Given the description of an element on the screen output the (x, y) to click on. 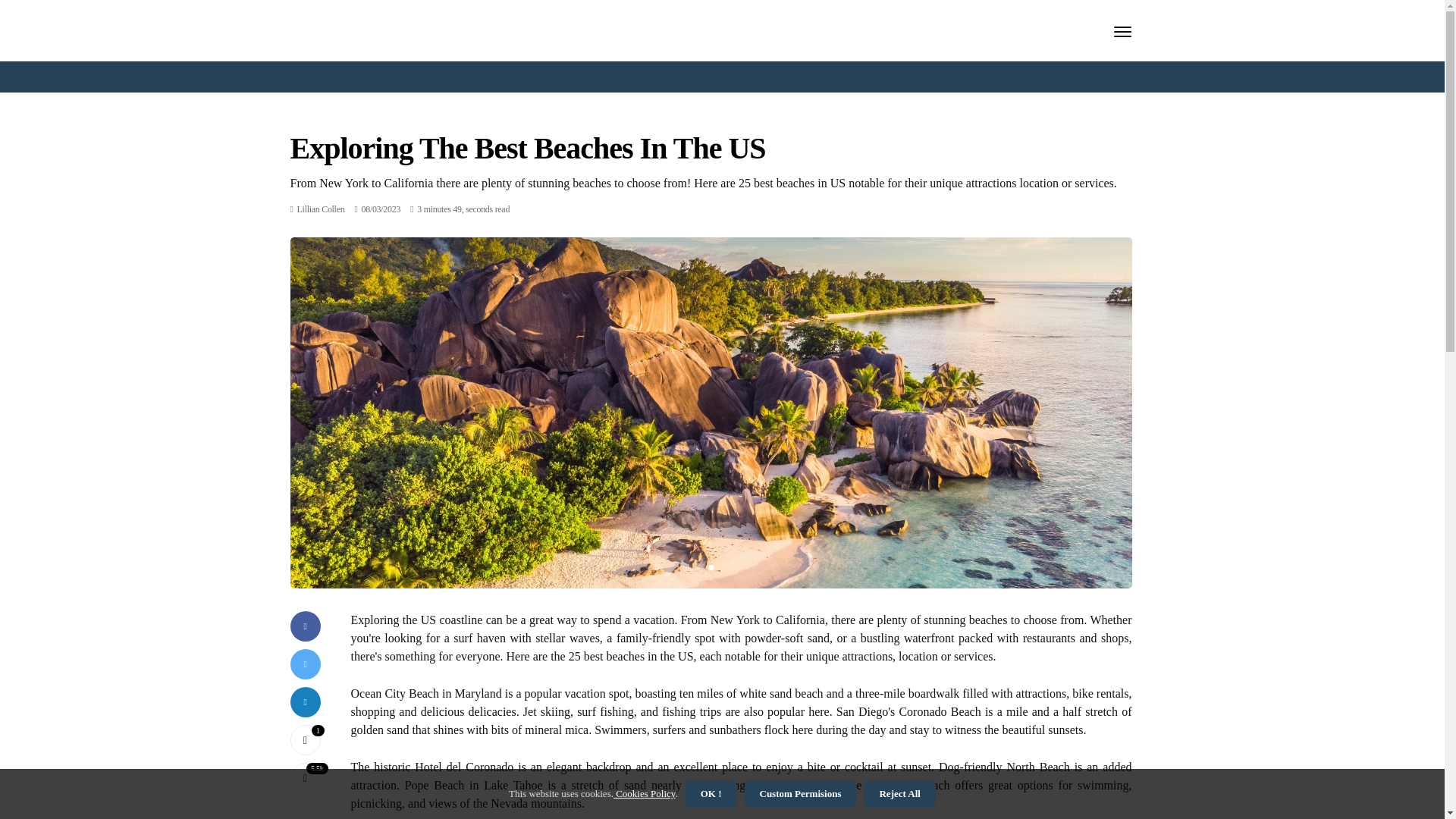
Like (304, 739)
1 (304, 739)
Posts by Lillian Collen (321, 208)
Lillian Collen (321, 208)
